Given the description of an element on the screen output the (x, y) to click on. 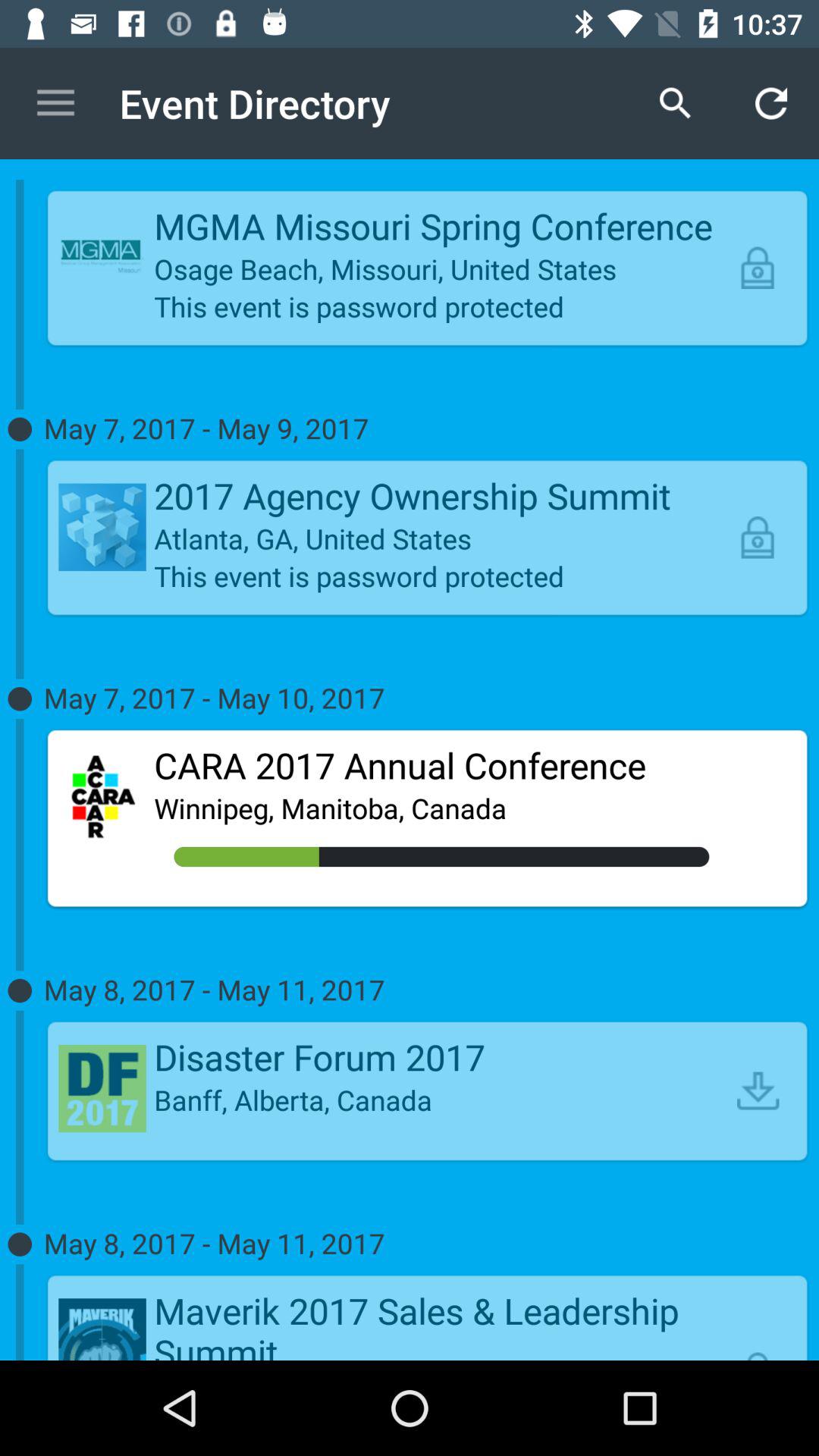
open the item below 2017 agency ownership item (441, 538)
